Given the description of an element on the screen output the (x, y) to click on. 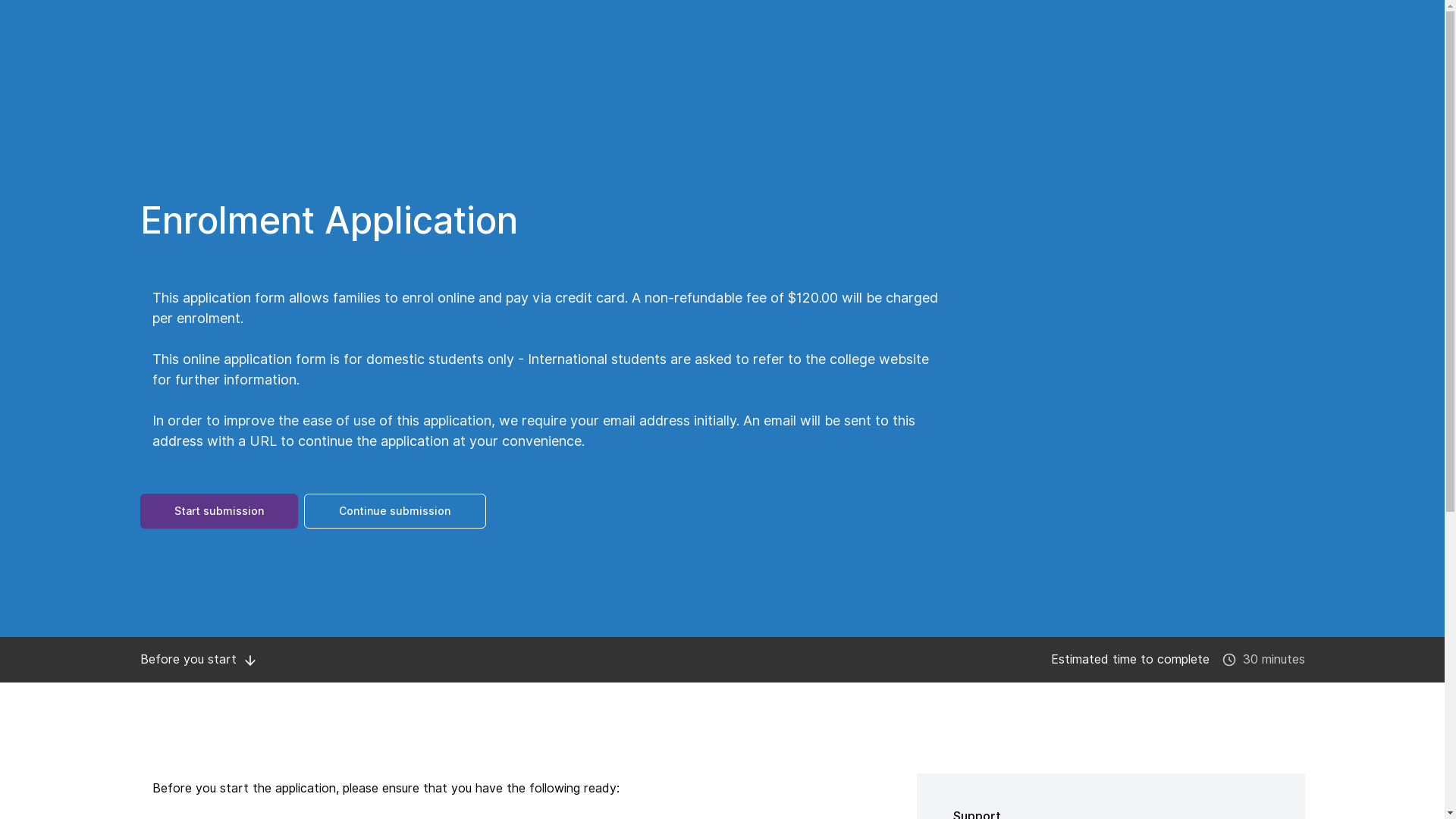
Start submission Element type: text (218, 510)
Continue submission Element type: text (394, 510)
